Given the description of an element on the screen output the (x, y) to click on. 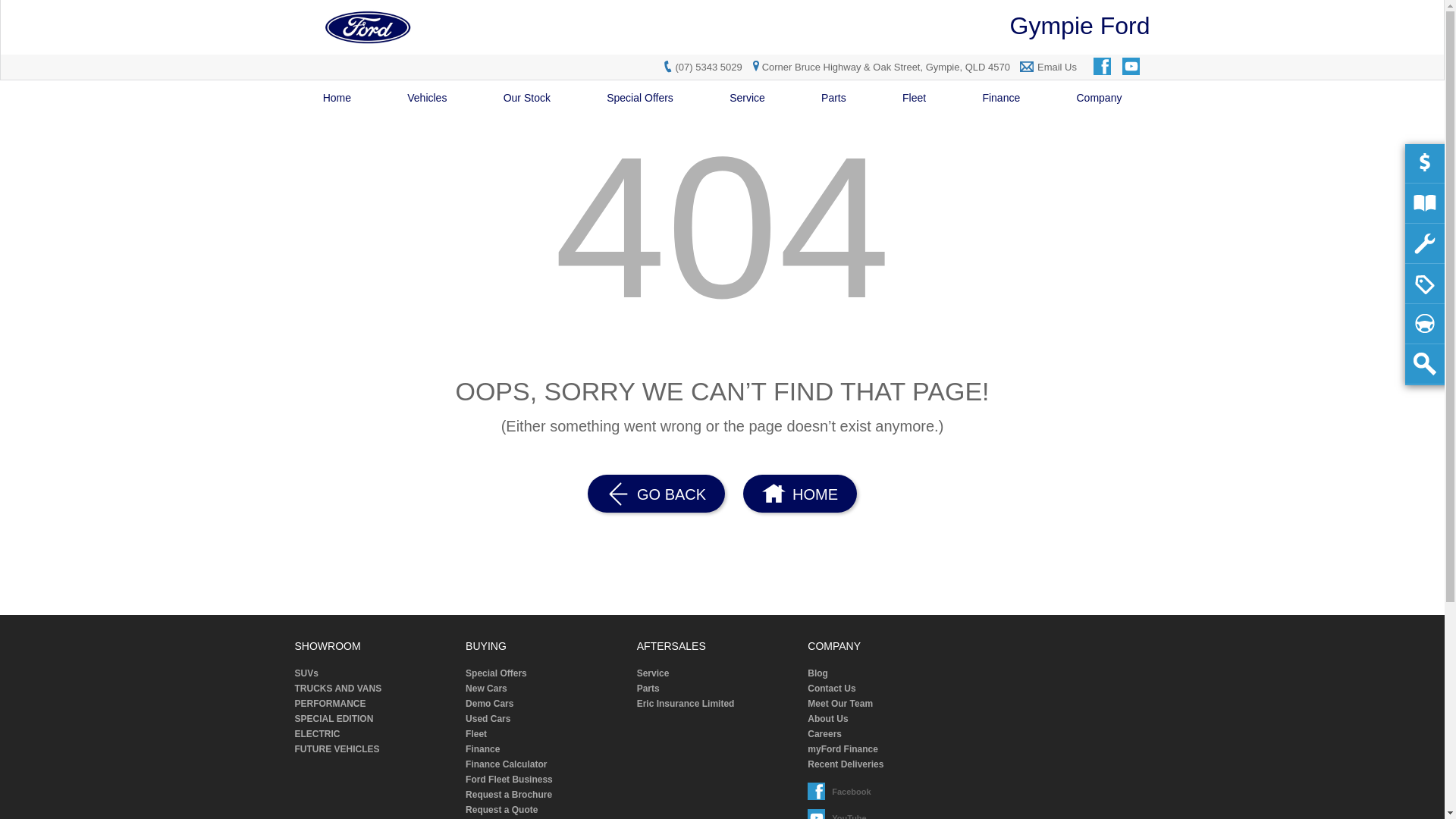
Meet Our Team Element type: text (887, 703)
Fleet Element type: text (913, 98)
Finance Element type: text (1000, 98)
Service Element type: text (747, 98)
Careers Element type: text (887, 733)
HOME Element type: text (799, 493)
Demo Cars Element type: text (545, 703)
Corner Bruce Highway & Oak Street, Gympie, QLD 4570 Element type: text (879, 66)
FUTURE VEHICLES Element type: text (374, 748)
Facebook Element type: text (817, 791)
myFord Finance Element type: text (887, 748)
Blog Element type: text (887, 672)
Finance Element type: text (545, 748)
SPECIAL EDITION Element type: text (374, 718)
Ford Fleet Business Element type: text (545, 779)
Contact Us Element type: text (887, 688)
Finance Calculator Element type: text (545, 763)
Special Offers Element type: text (639, 98)
(07) 5343 5029 Element type: text (707, 66)
New Cars Element type: text (545, 688)
Email Us Element type: text (1056, 66)
Used Cars Element type: text (545, 718)
Our Stock Element type: text (527, 98)
YouTube Element type: text (1132, 66)
GO BACK Element type: text (655, 493)
Vehicles Element type: text (426, 98)
ELECTRIC Element type: text (374, 733)
Parts Element type: text (717, 688)
Company Element type: text (1098, 98)
Service Element type: text (717, 672)
Recent Deliveries Element type: text (887, 763)
Request a Quote Element type: text (545, 809)
PERFORMANCE Element type: text (374, 703)
Facebook Element type: text (1103, 66)
Request a Brochure Element type: text (545, 794)
TRUCKS AND VANS Element type: text (374, 688)
Parts Element type: text (833, 98)
Special Offers Element type: text (545, 672)
Home Element type: text (336, 98)
Eric Insurance Limited Element type: text (717, 703)
About Us Element type: text (887, 718)
SUVs Element type: text (374, 672)
Fleet Element type: text (545, 733)
